Given the description of an element on the screen output the (x, y) to click on. 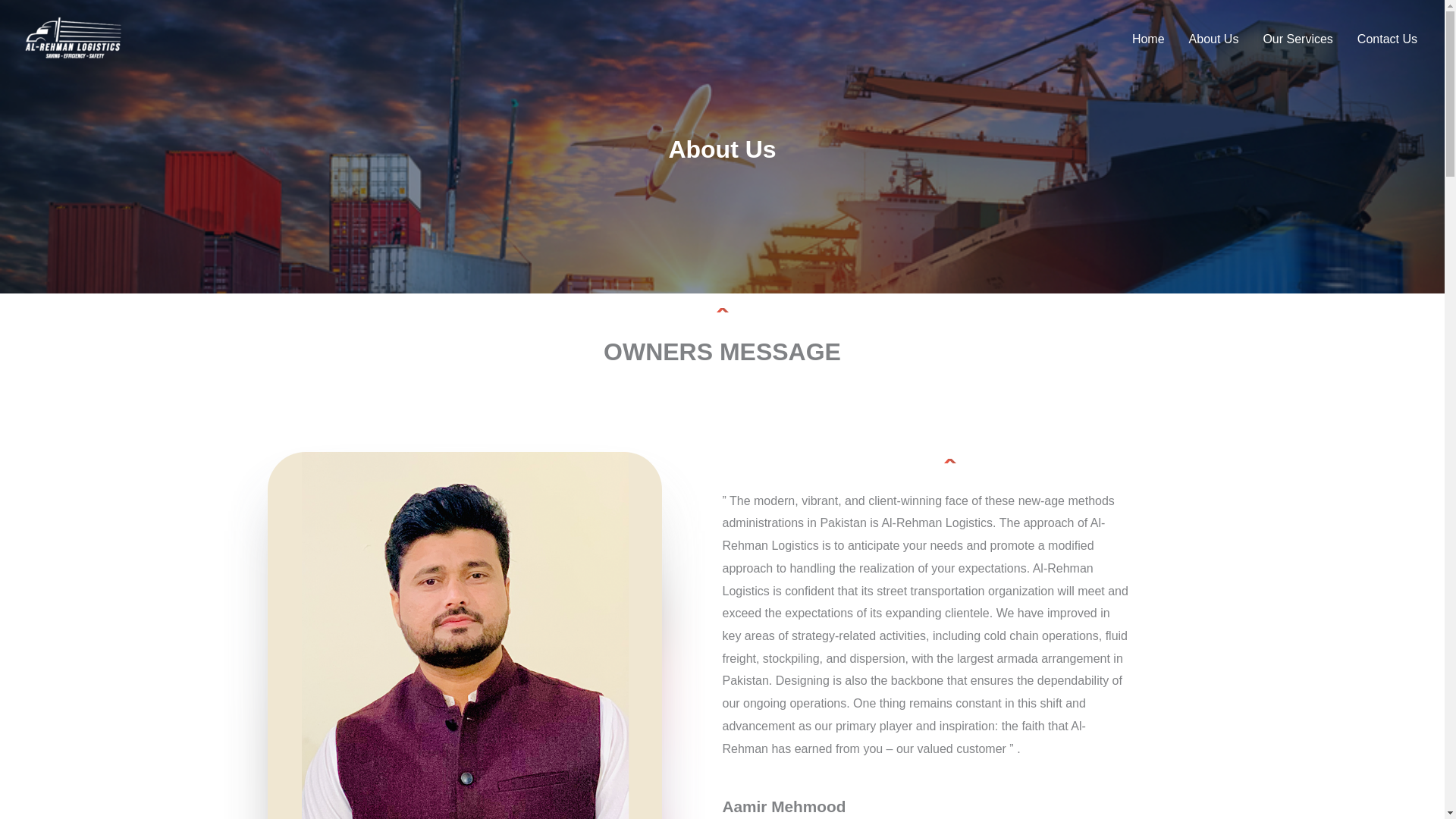
Our Services (1296, 39)
Contact Us (1387, 39)
About Us (1213, 39)
Home (1147, 39)
